Given the description of an element on the screen output the (x, y) to click on. 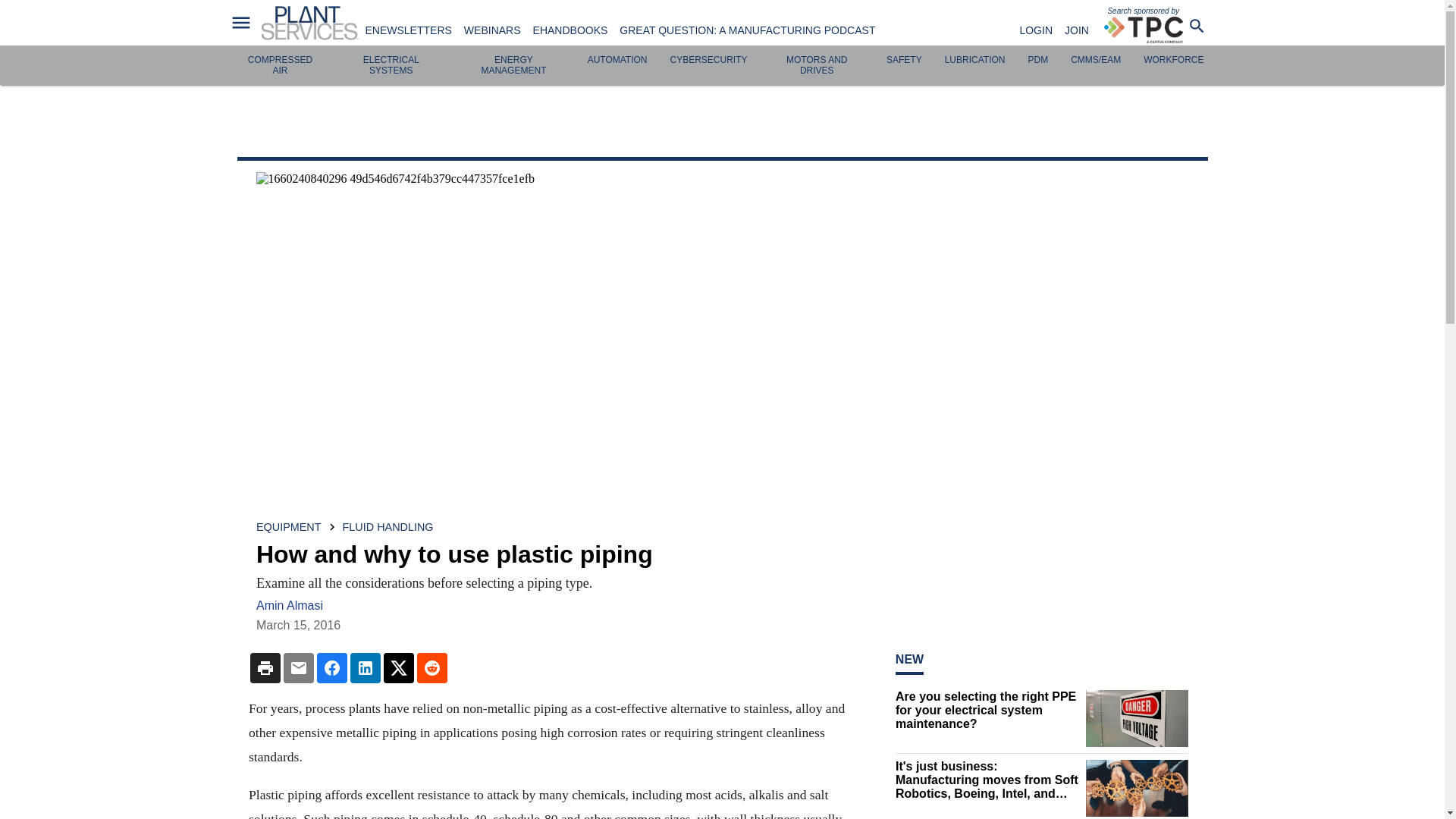
ELECTRICAL SYSTEMS (390, 65)
LOGIN (1035, 30)
ENEWSLETTERS (408, 30)
MOTORS AND DRIVES (816, 65)
PDM (1037, 59)
SAFETY (903, 59)
ENERGY MANAGEMENT (513, 65)
EHANDBOOKS (570, 30)
CYBERSECURITY (708, 59)
AUTOMATION (617, 59)
